Given the description of an element on the screen output the (x, y) to click on. 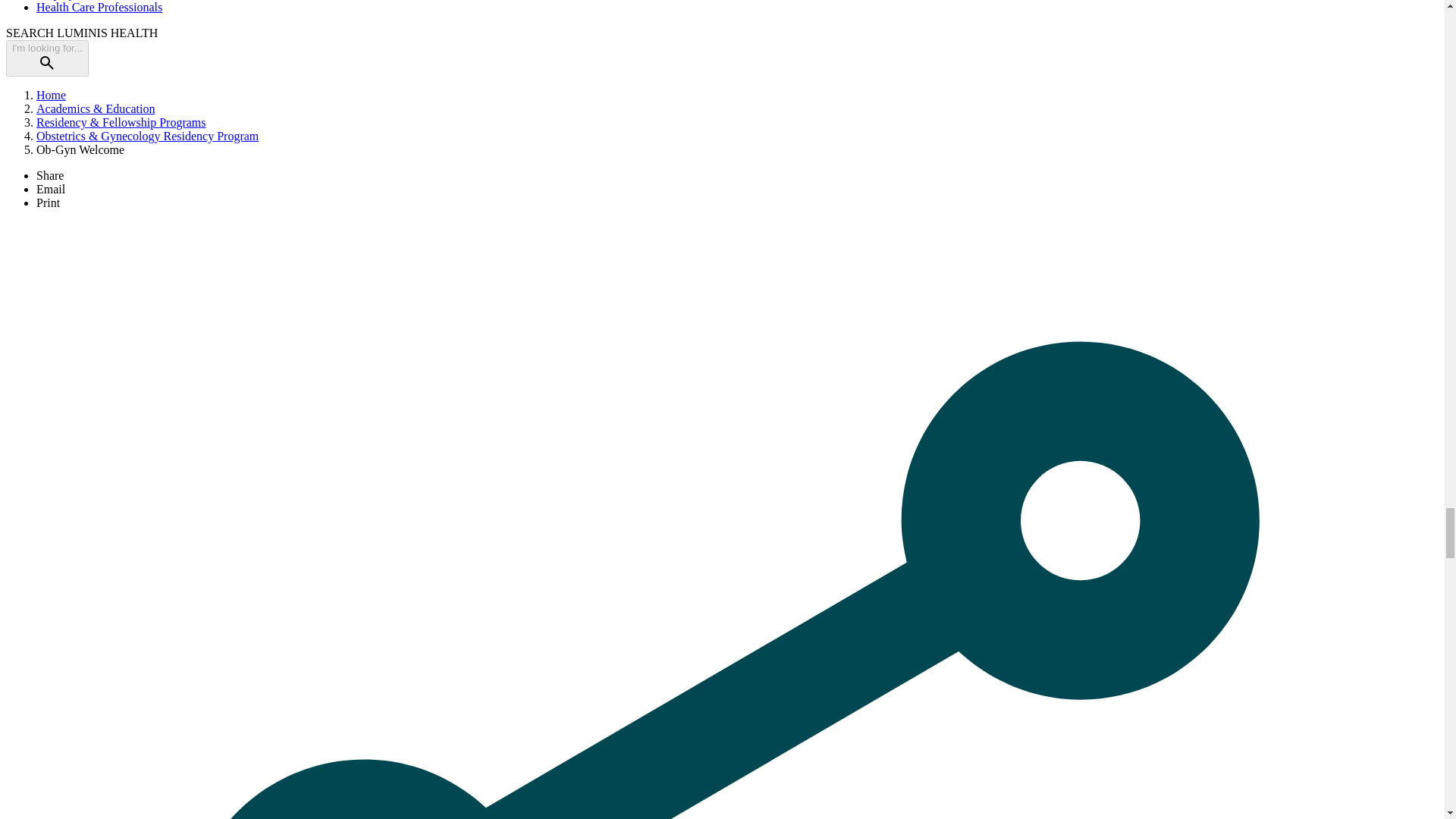
Copies the URL to the clipboard (50, 174)
Opens the print menu (47, 202)
